Given the description of an element on the screen output the (x, y) to click on. 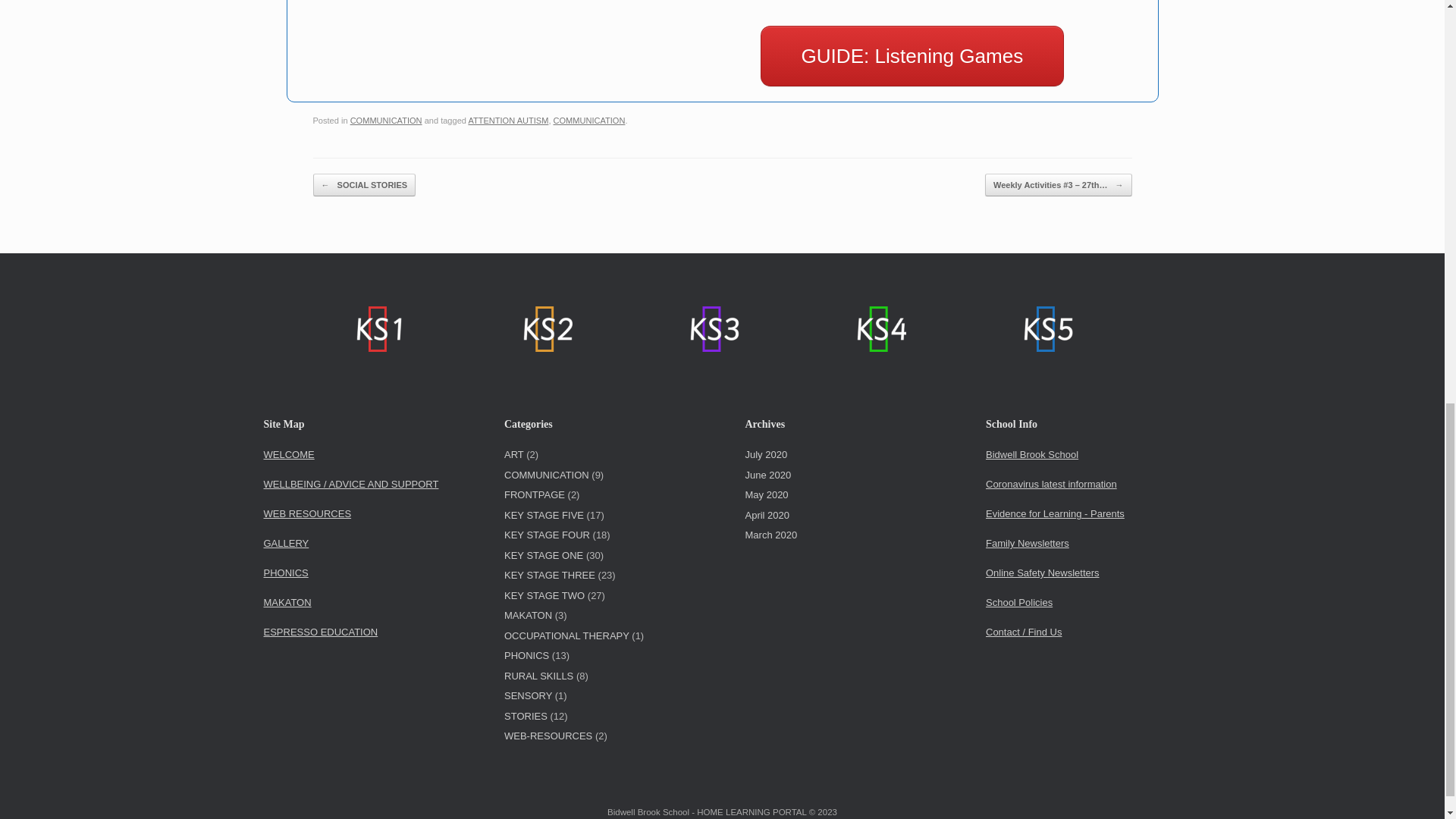
KEY STAGE TWO (545, 328)
ATTENTION AUTISM (507, 120)
COMMUNICATION (589, 120)
KEY STAGE FOUR (879, 328)
COMMUNICATION (386, 120)
GUIDE: Listening Games (911, 55)
KEY STAGE THREE (712, 328)
KEY STAGE ONE (379, 328)
KEY STAGE FIVE (1045, 328)
